Given the description of an element on the screen output the (x, y) to click on. 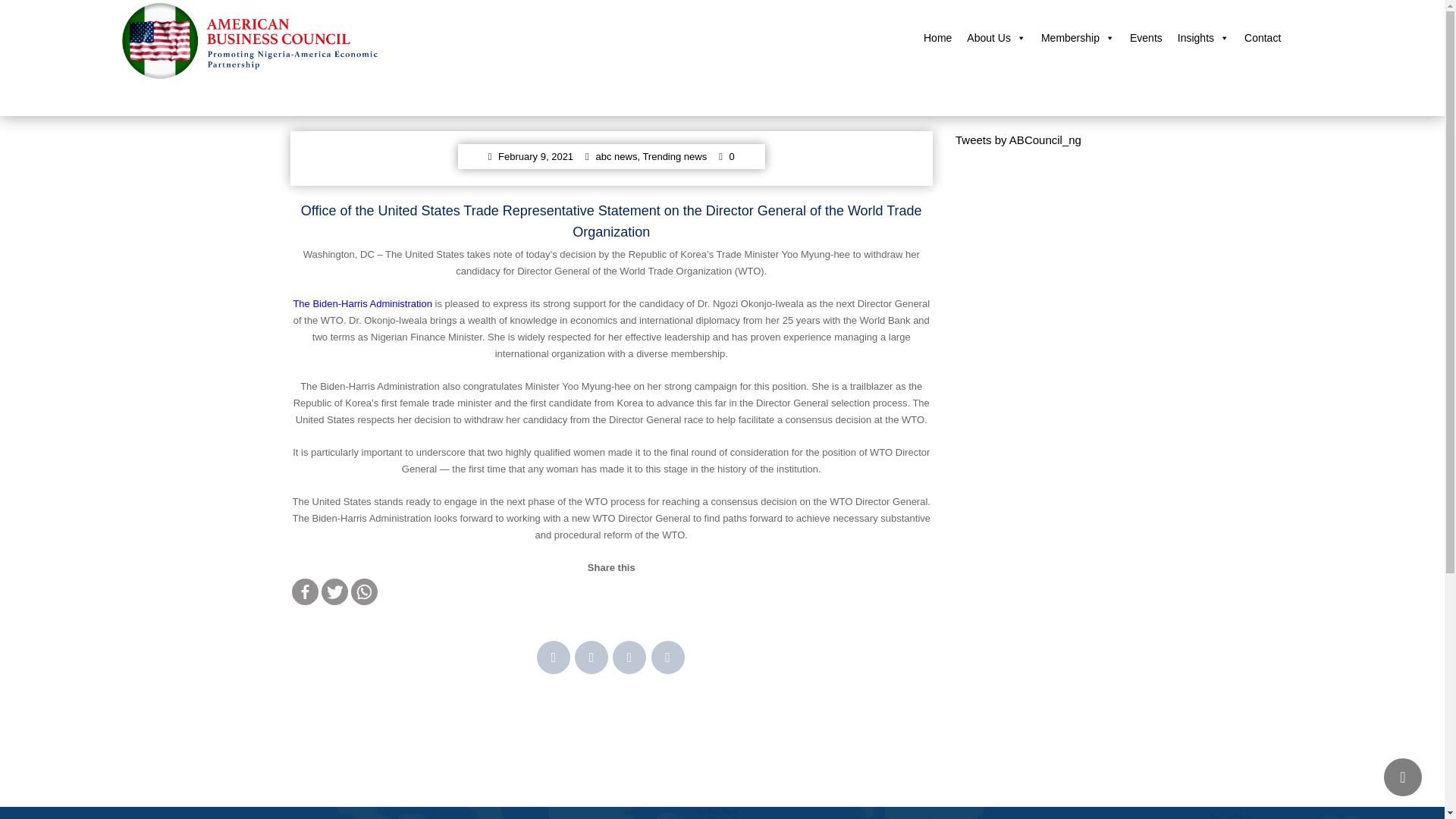
Facebook (304, 591)
Insights (1203, 37)
Trending news (674, 155)
Home (937, 37)
Pinterest (667, 657)
Google Plus (629, 657)
Twitter (591, 657)
Twitter (334, 591)
Search (1274, 130)
The Biden-Harris Administration (362, 303)
Events (1146, 37)
Membership (1077, 37)
Facebook (553, 657)
About Us (996, 37)
Contact (1262, 37)
